Given the description of an element on the screen output the (x, y) to click on. 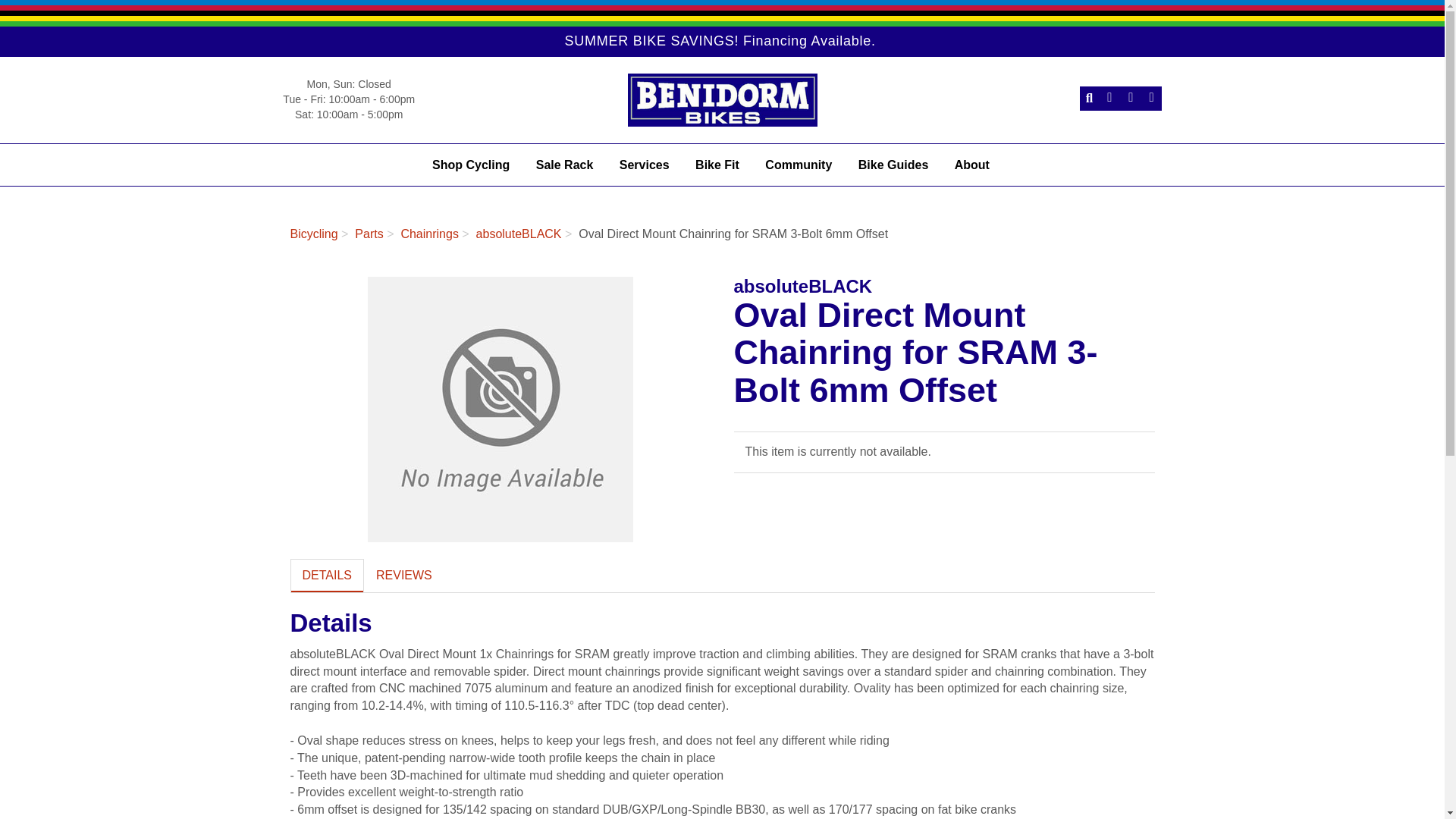
Benidorm Bikes Home Page (721, 99)
Sales (719, 40)
Shop Cycling (470, 168)
SUMMER BIKE SAVINGS! Financing Available. (719, 40)
